Given the description of an element on the screen output the (x, y) to click on. 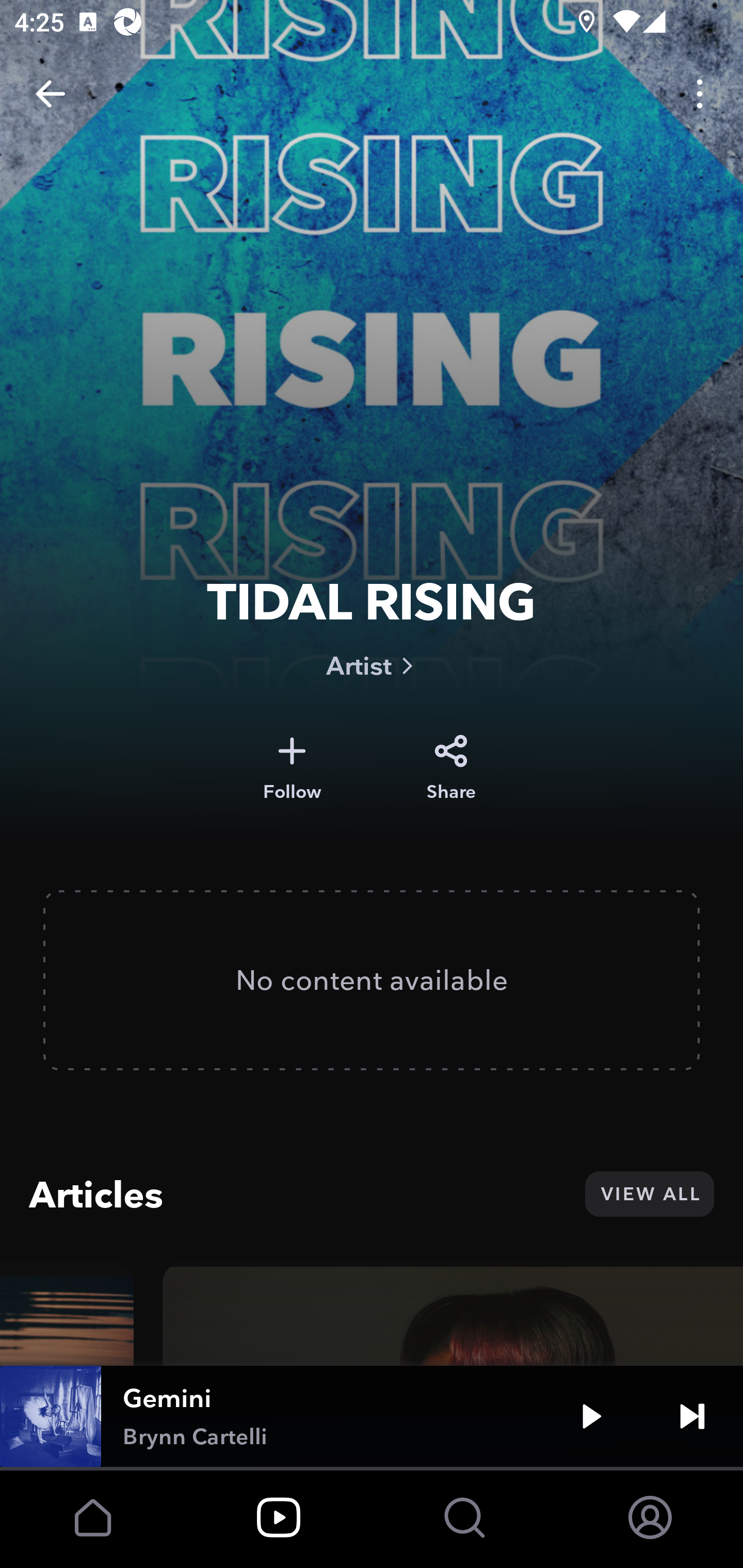
Options (699, 93)
Artist (371, 665)
Follow (291, 767)
Share (450, 767)
VIEW ALL (649, 1193)
Gemini Brynn Cartelli Play (371, 1416)
Play (590, 1416)
